Given the description of an element on the screen output the (x, y) to click on. 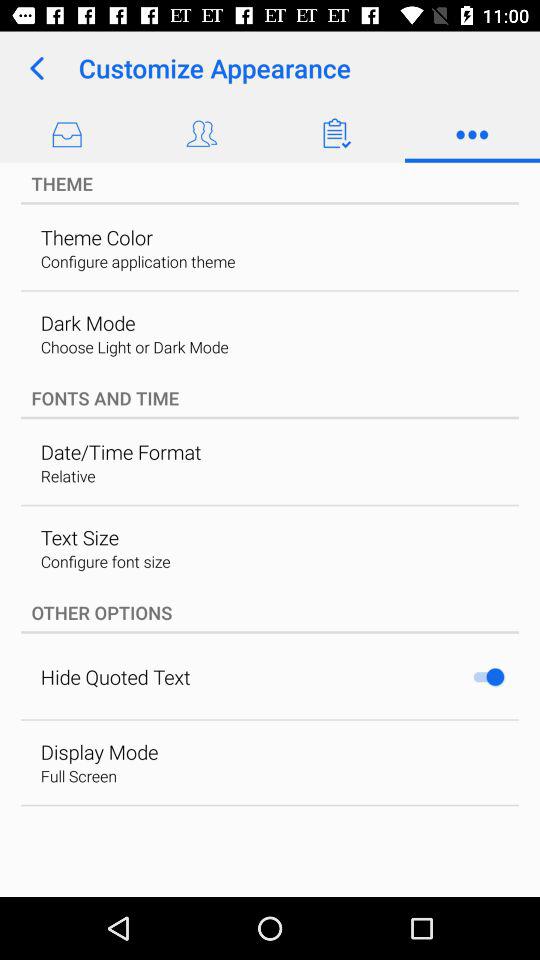
jump to relative (67, 475)
